Given the description of an element on the screen output the (x, y) to click on. 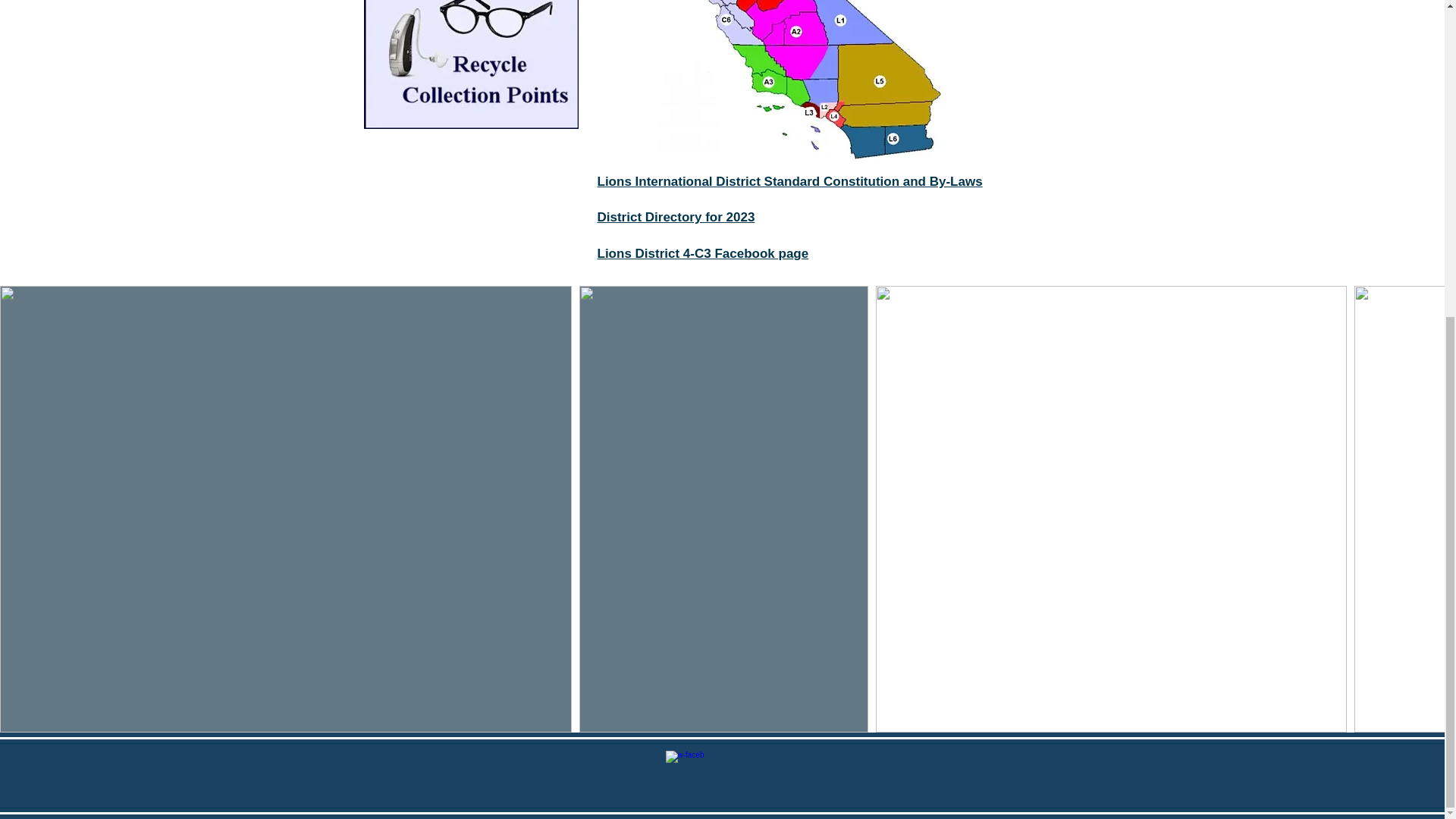
CA-C3.jpg (797, 82)
click for list of Collection Points (471, 64)
Lions District 4-C3 Facebook page (702, 253)
District Directory for 2023 (675, 216)
